Given the description of an element on the screen output the (x, y) to click on. 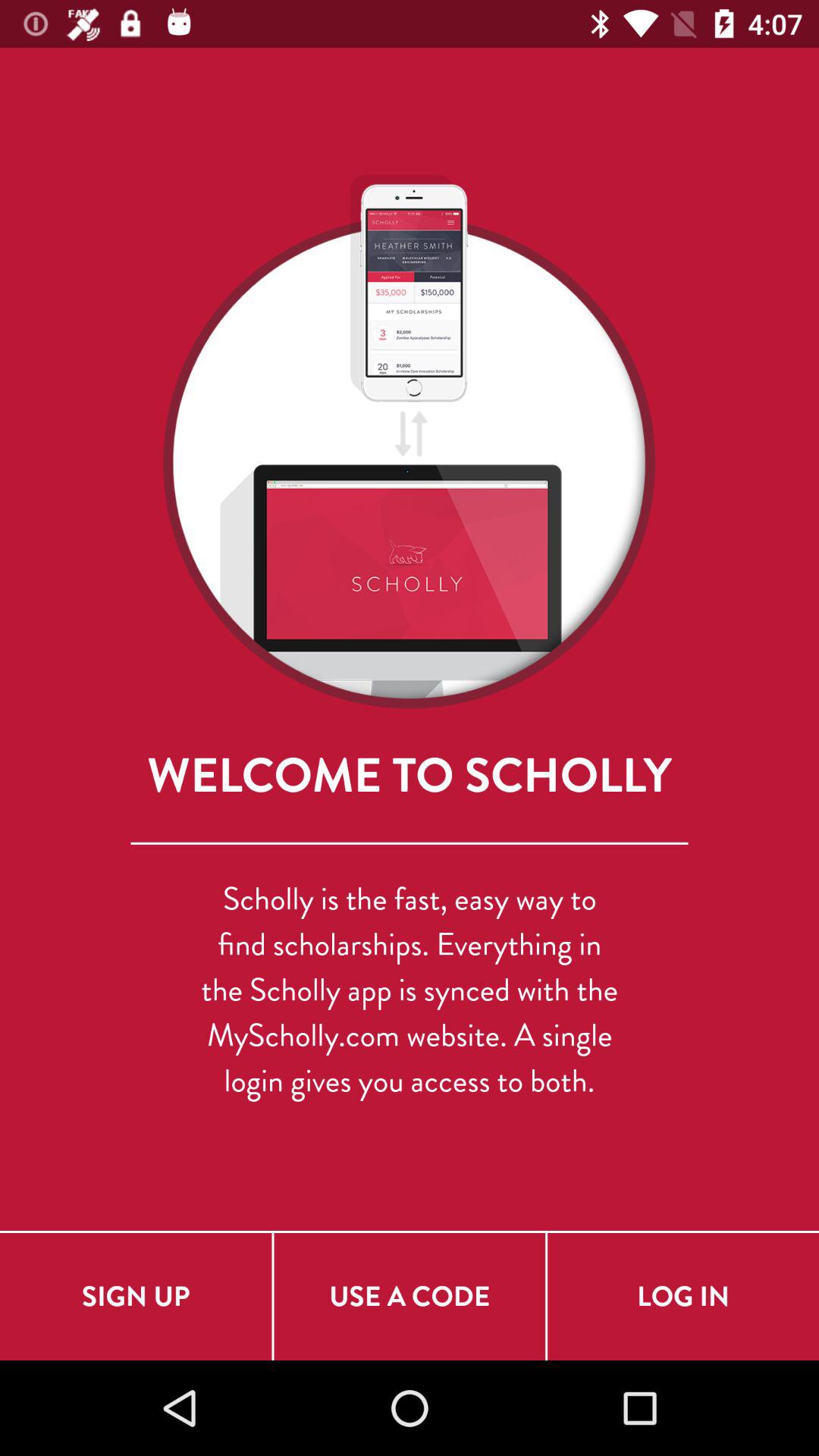
open the sign up at the bottom left corner (135, 1296)
